Given the description of an element on the screen output the (x, y) to click on. 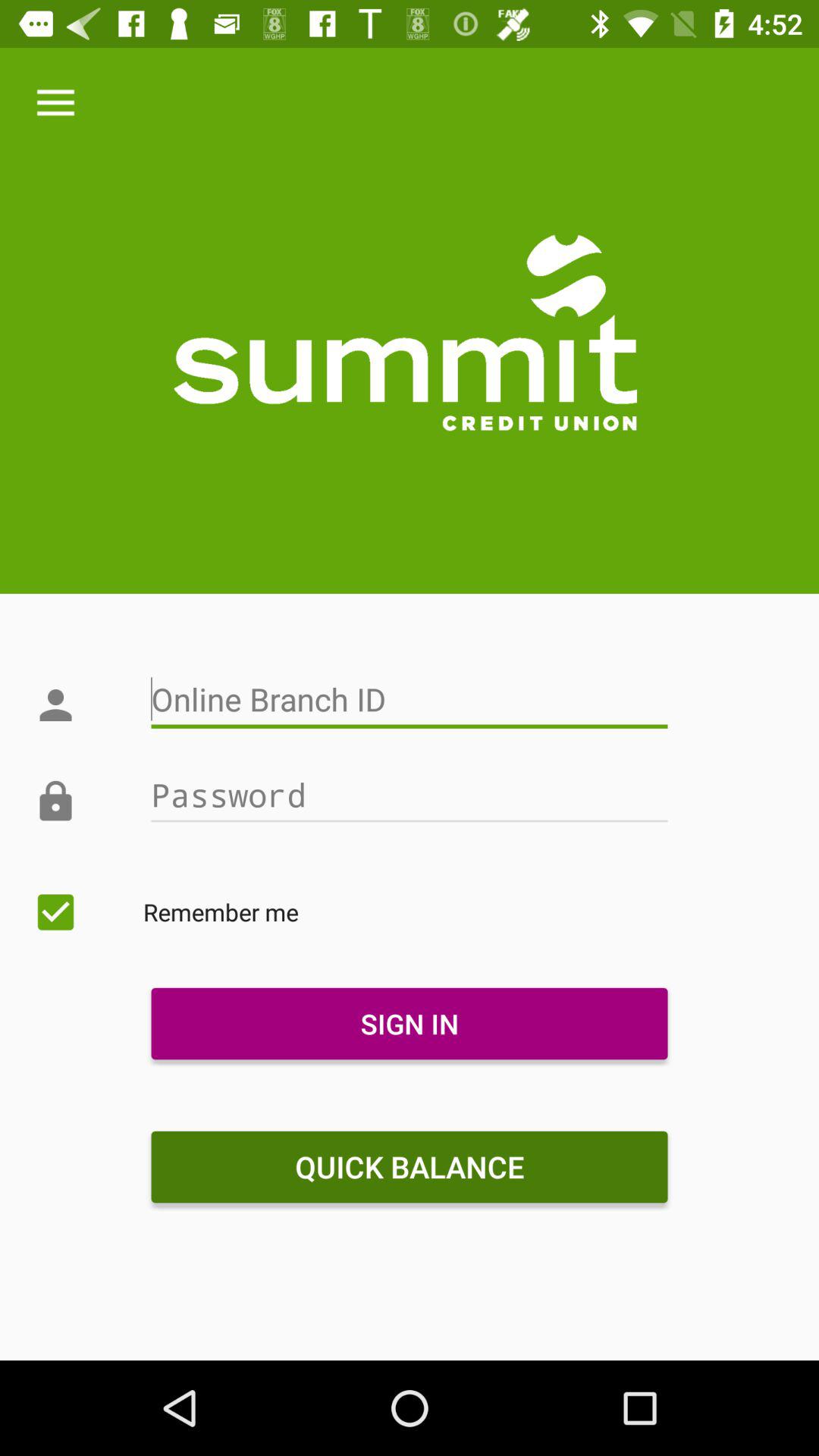
turn off item below the sign in icon (409, 1166)
